Given the description of an element on the screen output the (x, y) to click on. 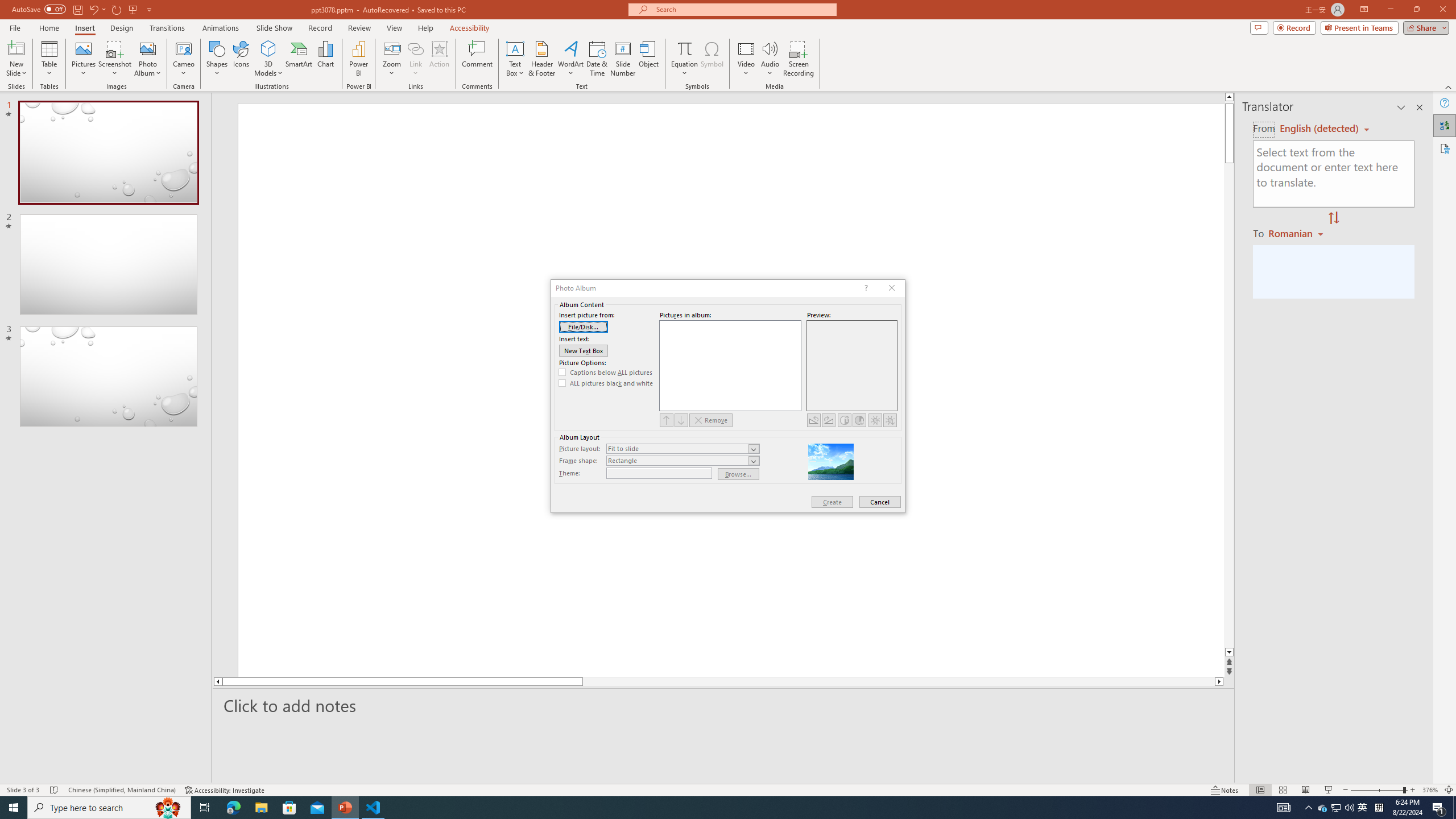
ALL pictures black and white (606, 383)
Romanian (1296, 232)
